Given the description of an element on the screen output the (x, y) to click on. 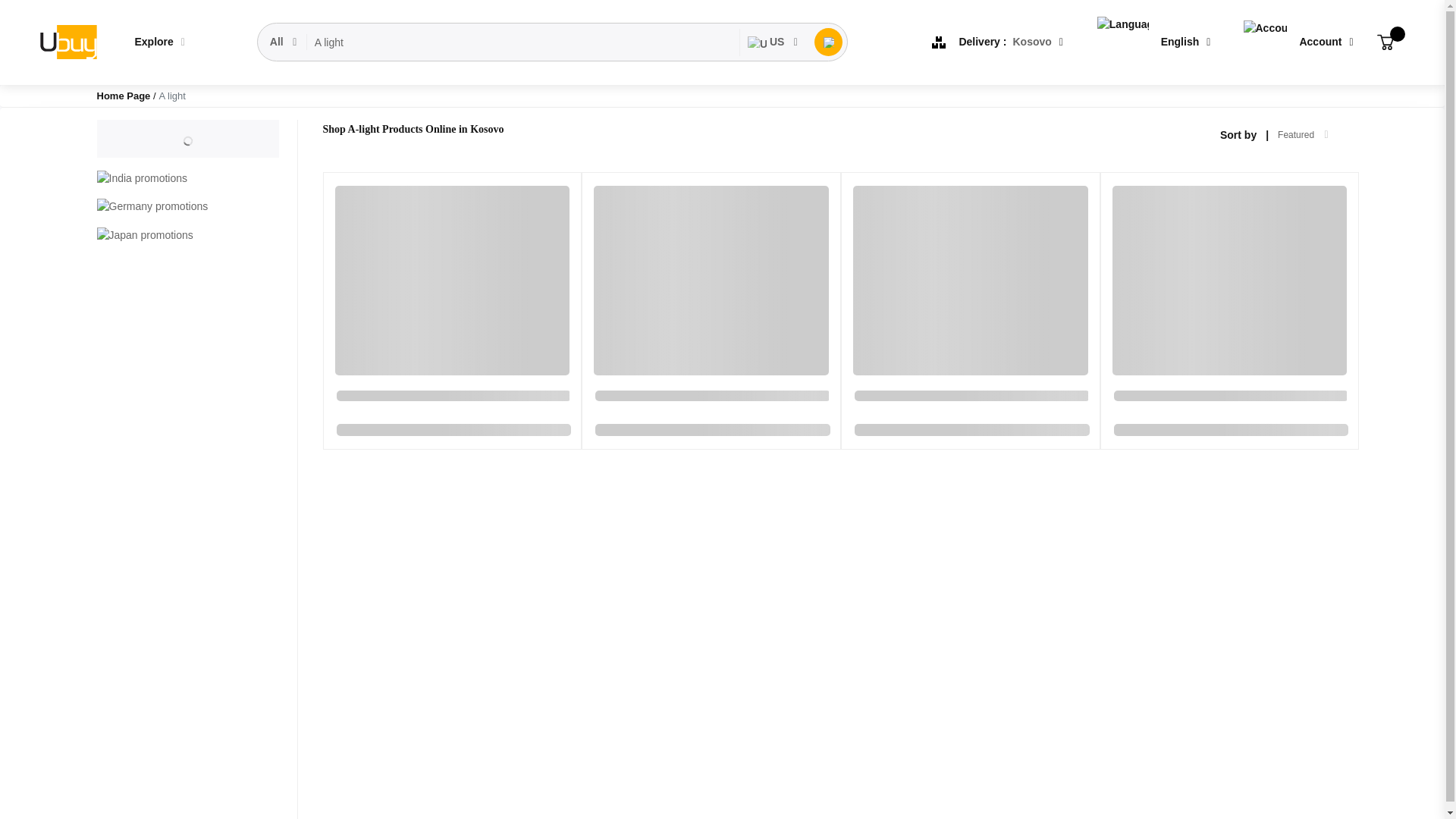
Ubuy (67, 42)
All (283, 41)
Home Page (124, 95)
A light (523, 42)
Home Page (124, 95)
US (772, 41)
Cart (1385, 42)
A light (523, 42)
